Given the description of an element on the screen output the (x, y) to click on. 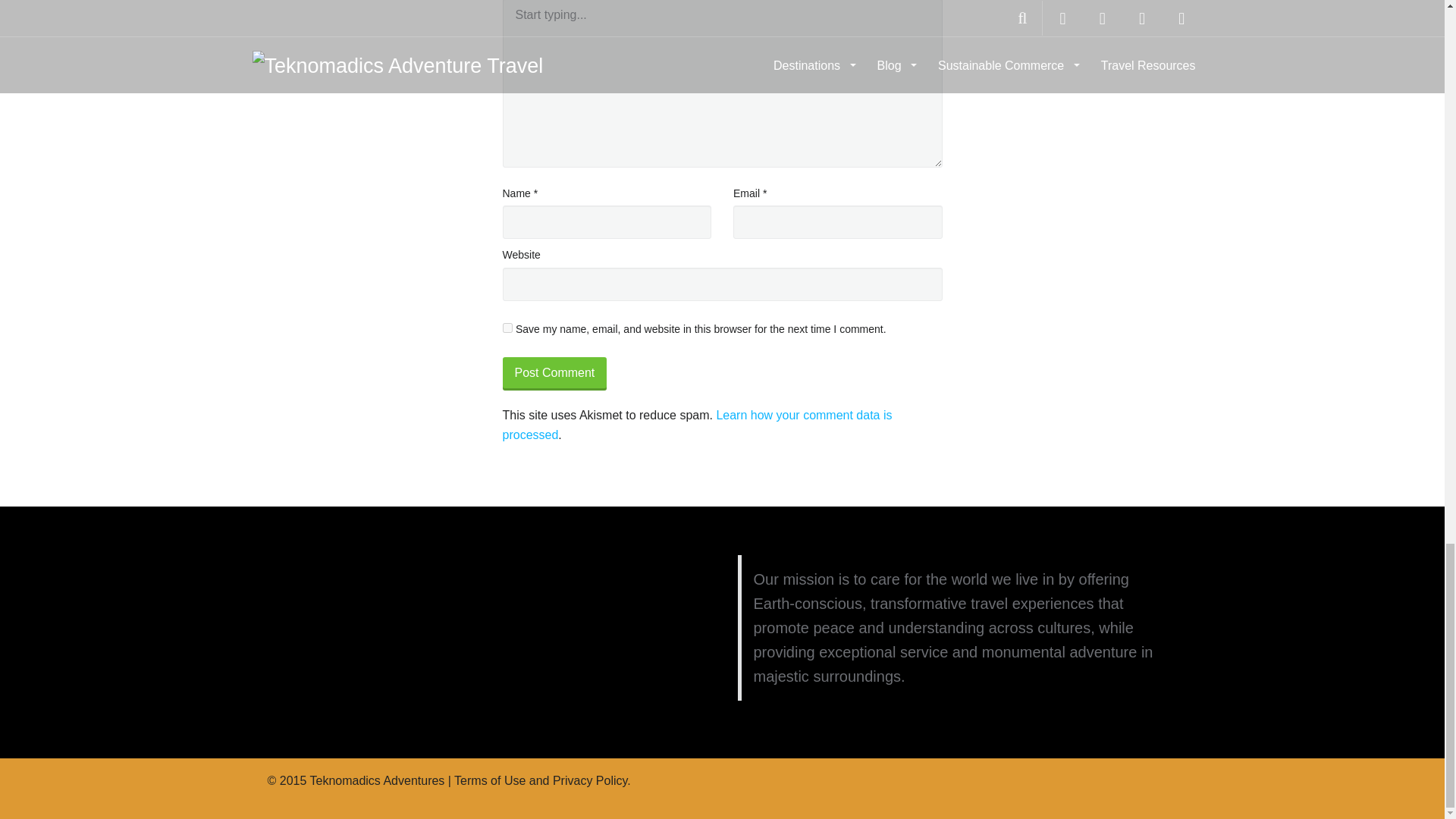
Learn how your comment data is processed (696, 424)
Post Comment (554, 373)
yes (507, 327)
Post Comment (554, 373)
